Given the description of an element on the screen output the (x, y) to click on. 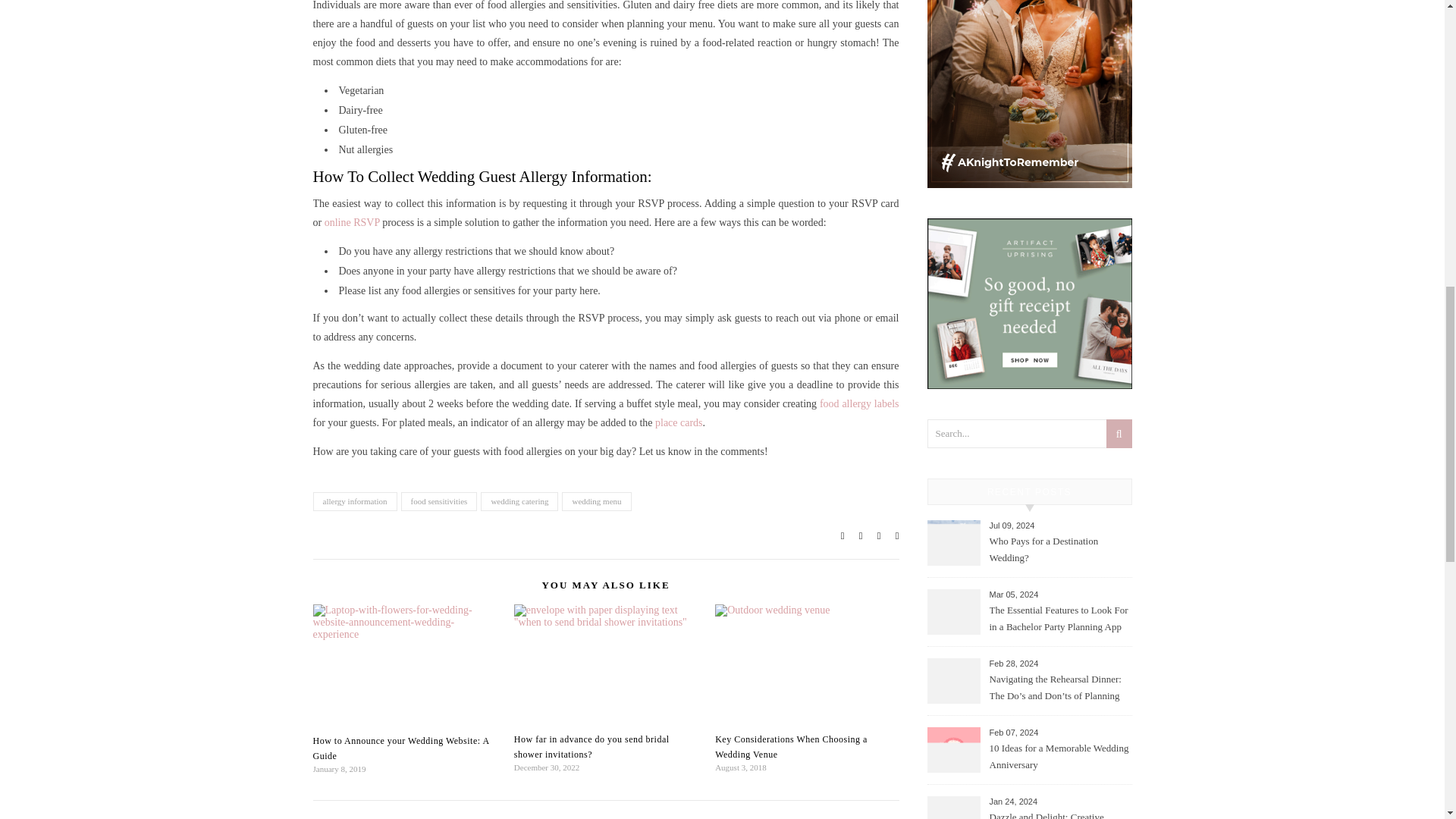
Key Considerations When Choosing a Wedding Venue (790, 746)
How to Announce your Wedding Website: A Guide (400, 748)
allergy information (354, 501)
How far in advance do you send bridal shower invitations? (591, 746)
wedding menu (596, 501)
place cards (679, 422)
wedding catering (518, 501)
food allergy labels (859, 403)
online RSVP (352, 222)
food sensitivities (439, 501)
